Given the description of an element on the screen output the (x, y) to click on. 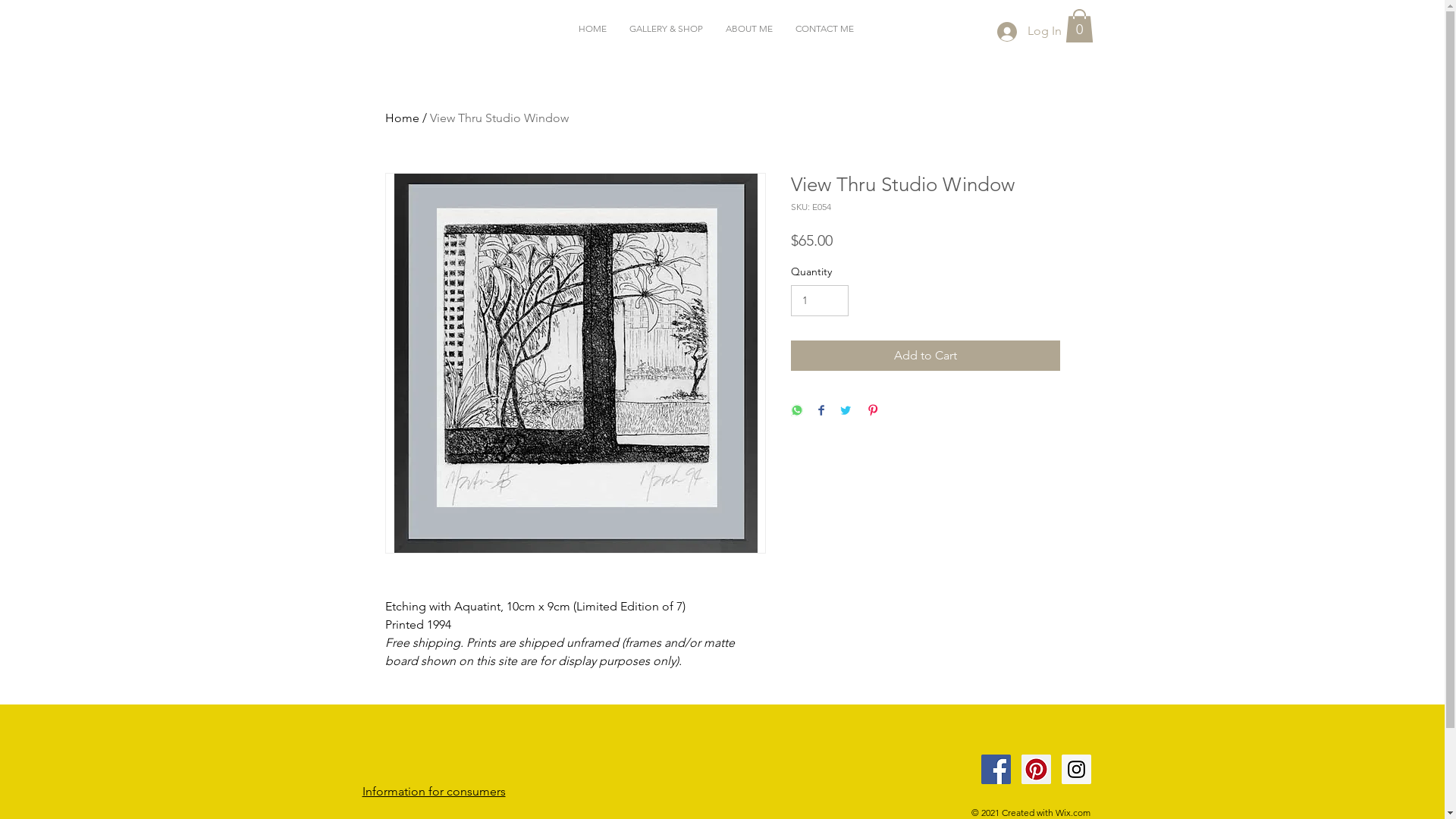
Information for consumers Element type: text (433, 791)
0 Element type: text (1078, 25)
CONTACT ME Element type: text (824, 28)
GALLERY & SHOP Element type: text (665, 28)
Log In Element type: text (1028, 30)
Wix.com Element type: text (1072, 812)
Add to Cart Element type: text (925, 355)
Home Element type: text (402, 117)
HOME Element type: text (592, 28)
ABOUT ME Element type: text (749, 28)
View Thru Studio Window Element type: text (498, 117)
